Given the description of an element on the screen output the (x, y) to click on. 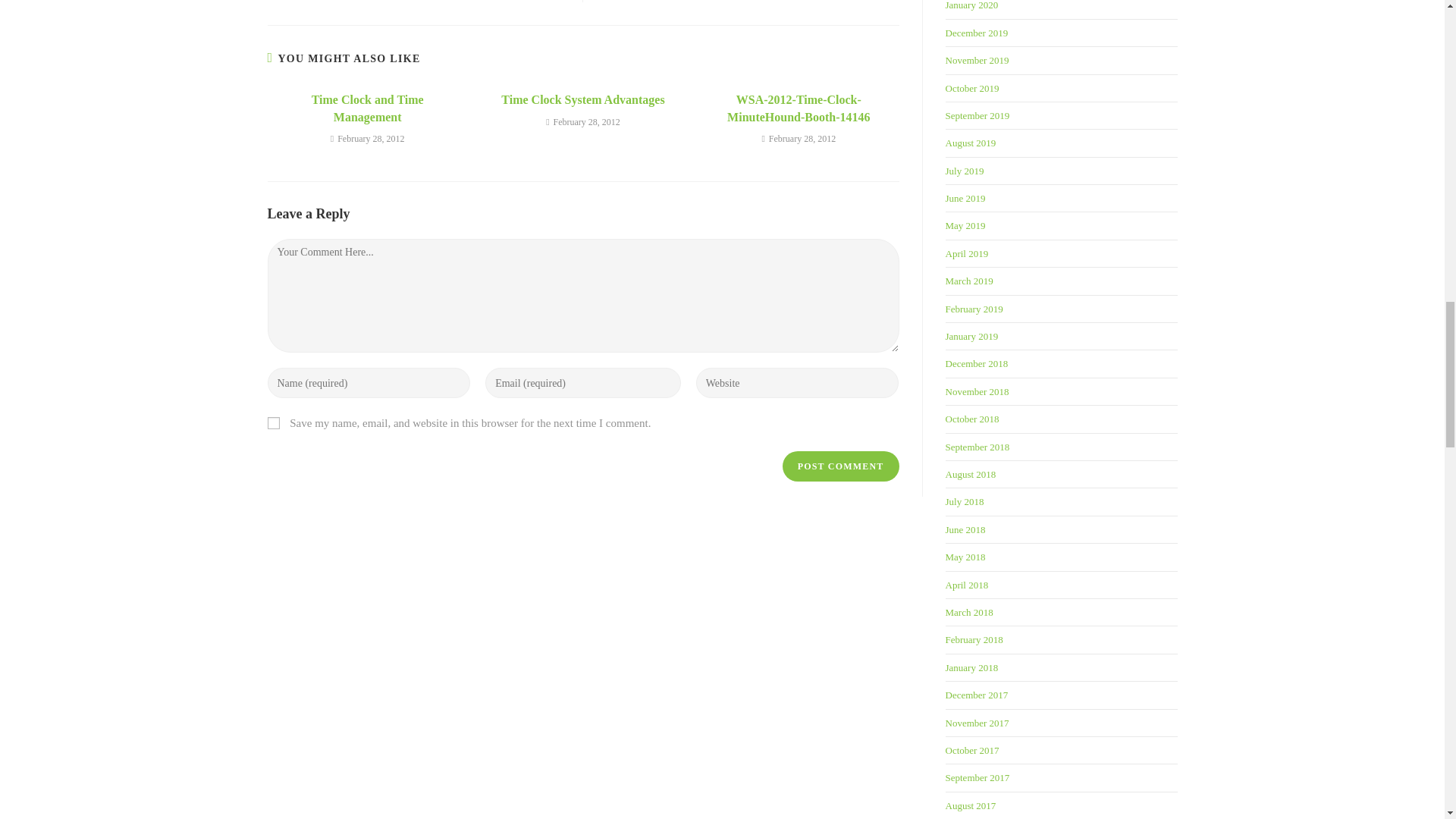
Post Comment (841, 466)
Time Clock and Time Management (367, 108)
Time Clock System Advantages (583, 99)
yes (272, 422)
WSA-2012-Time-Clock-MinuteHound-Booth-14146 (798, 108)
